Given the description of an element on the screen output the (x, y) to click on. 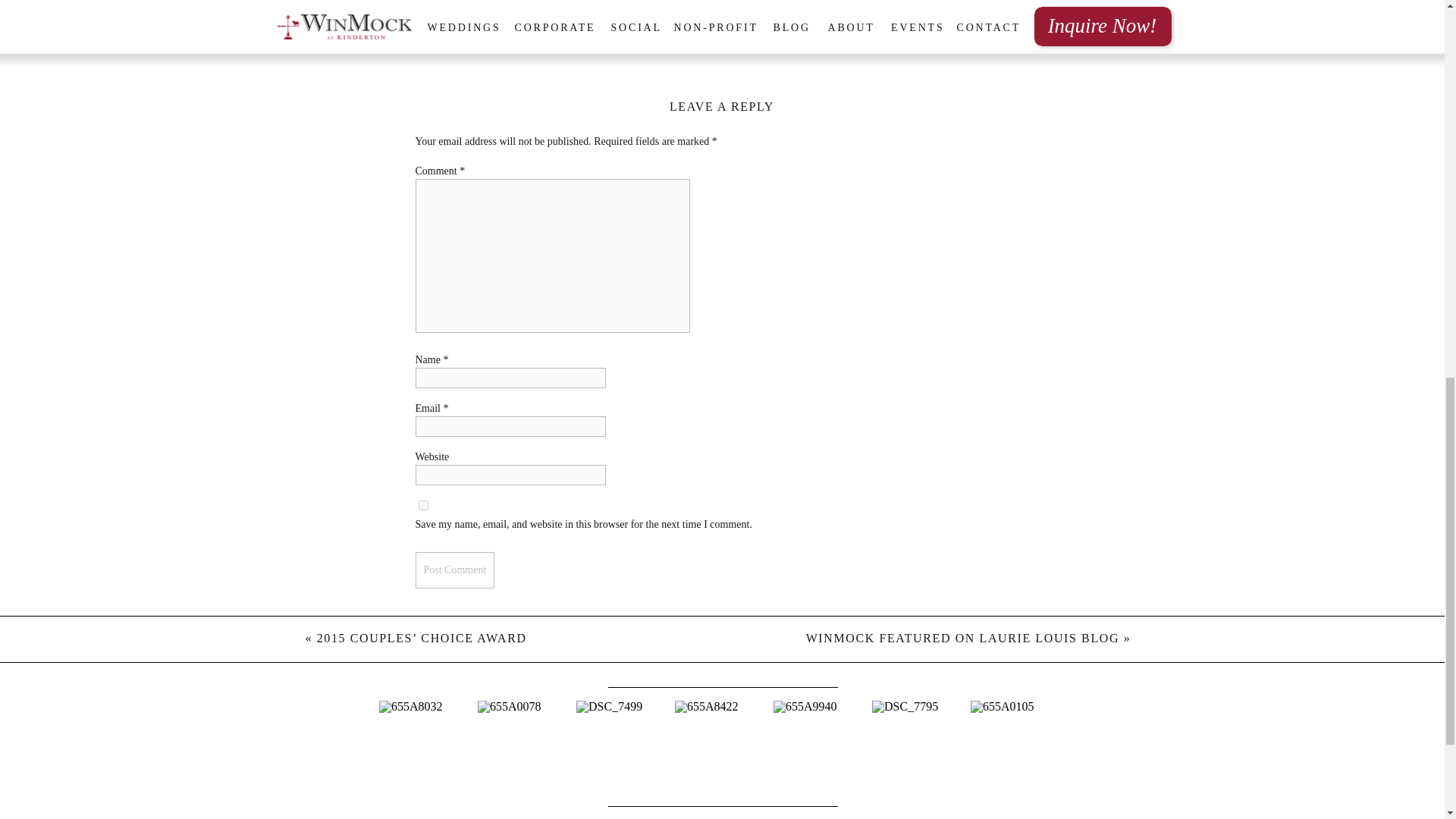
655A0105 (1018, 748)
BE THE FIRST TO COMMENT (723, 44)
Post Comment (454, 570)
655A8032 (426, 748)
yes (423, 505)
Post Comment (454, 570)
655A8422 (722, 748)
655A9940 (820, 748)
WINMOCK FEATURED ON LAURIE LOUIS BLOG (962, 637)
655A0078 (524, 748)
